Given the description of an element on the screen output the (x, y) to click on. 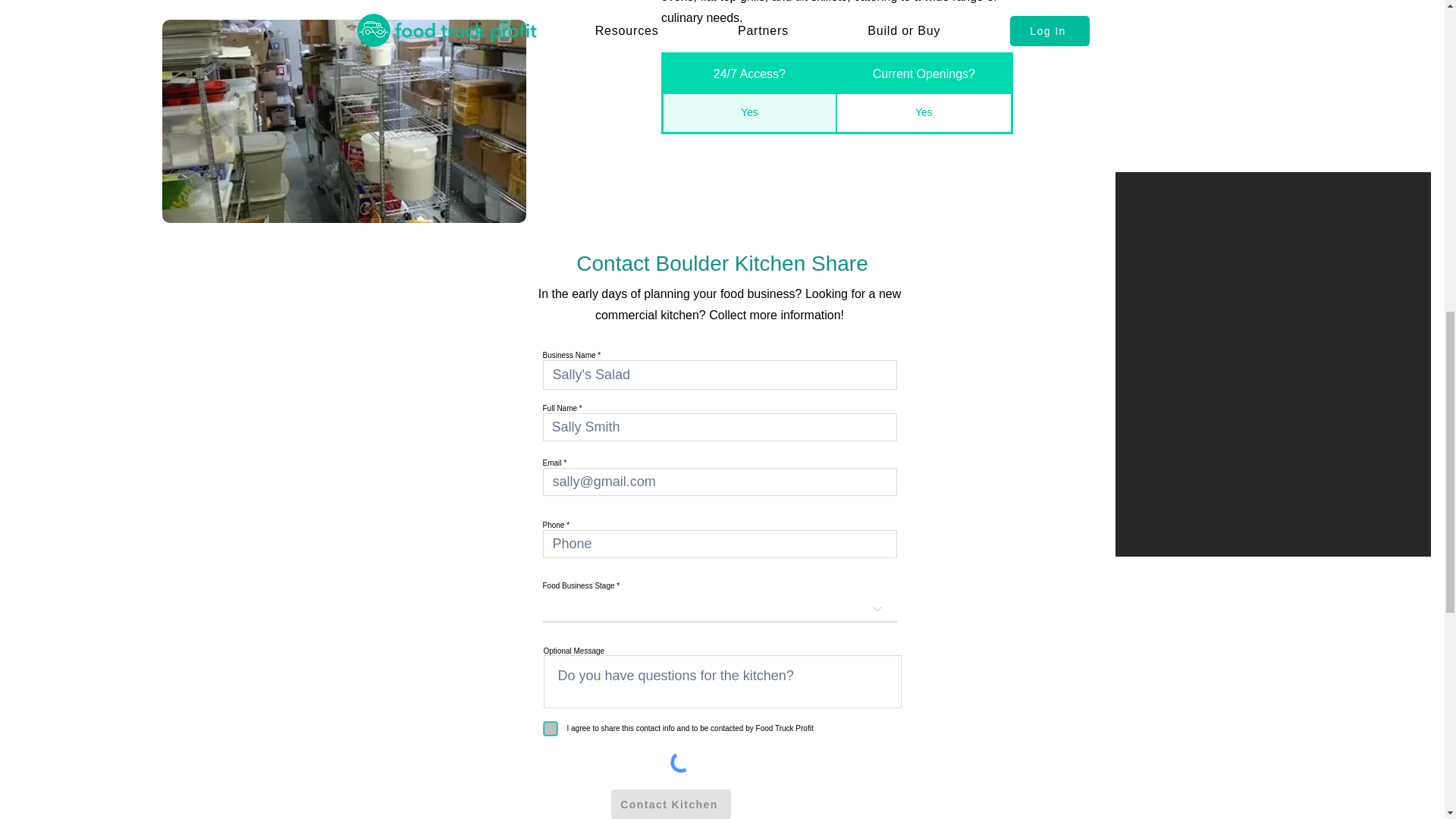
Contact Kitchen (670, 804)
Boulder Kitchen Share (344, 121)
